Given the description of an element on the screen output the (x, y) to click on. 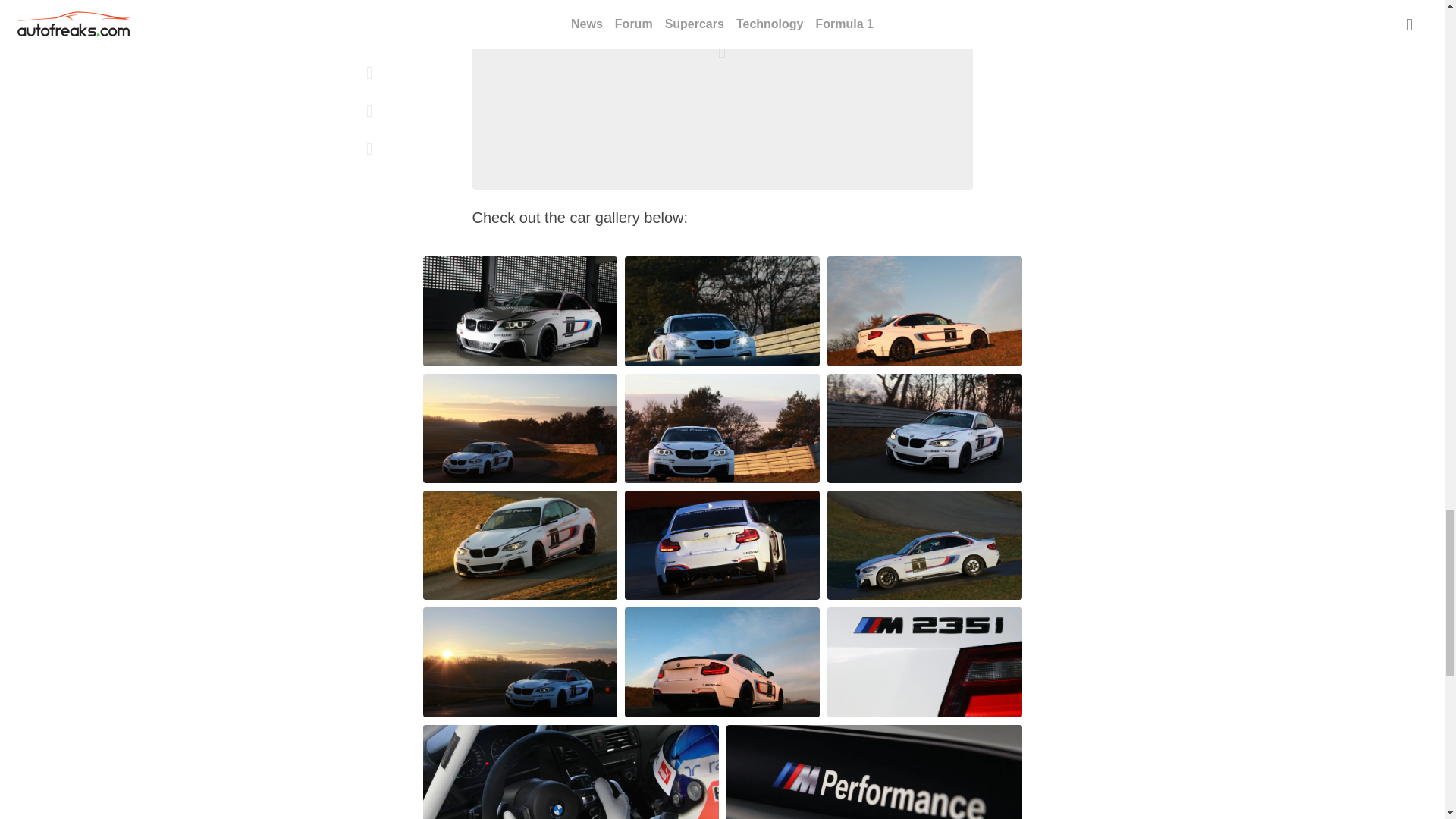
The new challenger is ready - BMW Motorsport. (721, 94)
